Given the description of an element on the screen output the (x, y) to click on. 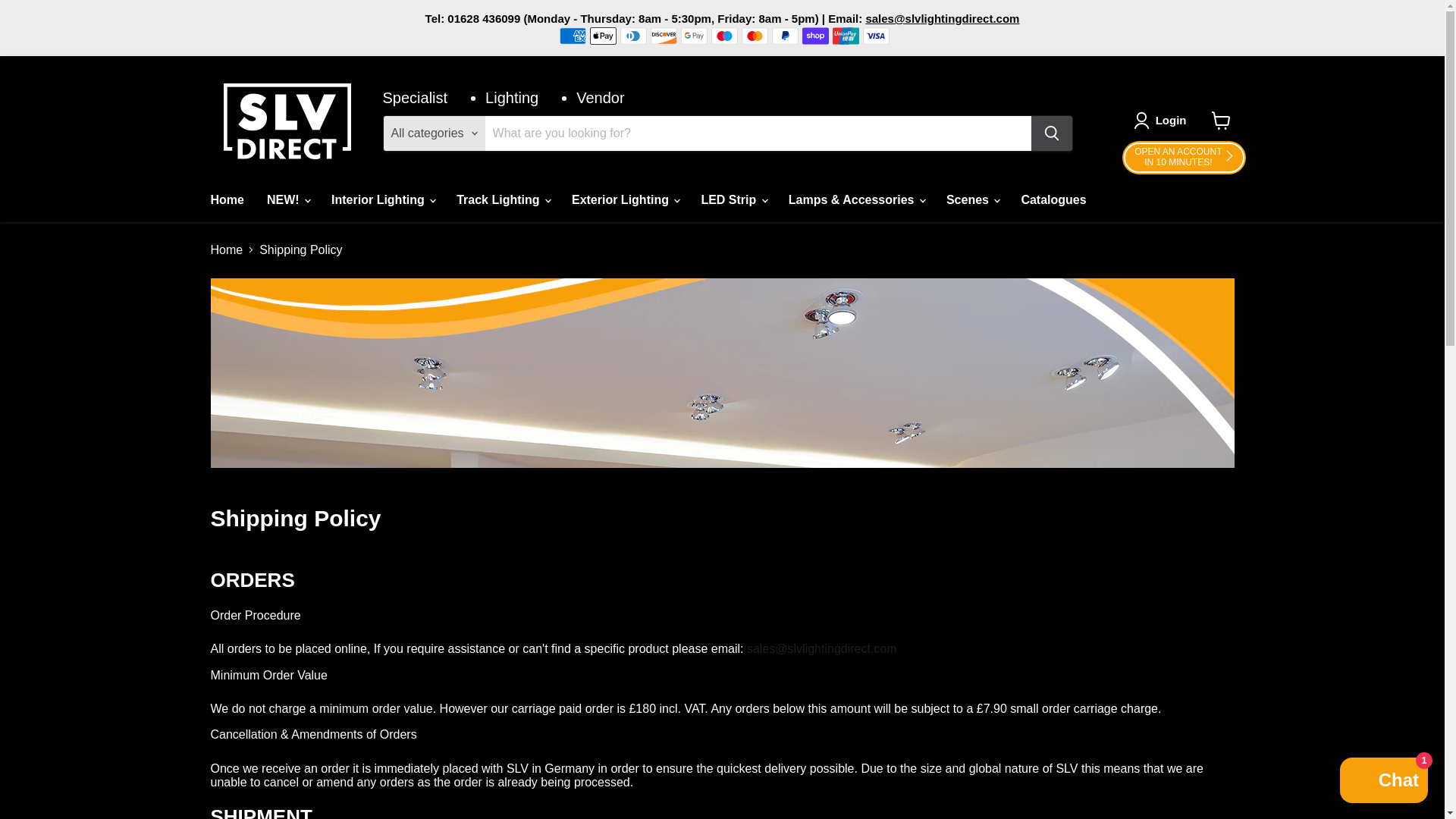
Visa (876, 35)
Union Pay (845, 35)
Login (1171, 120)
American Express (572, 35)
Home (226, 199)
Shop Pay (815, 35)
Diners Club (633, 35)
Apple Pay (602, 35)
Shopify online store chat (1383, 781)
Maestro (724, 35)
Google Pay (1183, 157)
PayPal (694, 35)
Discover (784, 35)
View cart (663, 35)
